Given the description of an element on the screen output the (x, y) to click on. 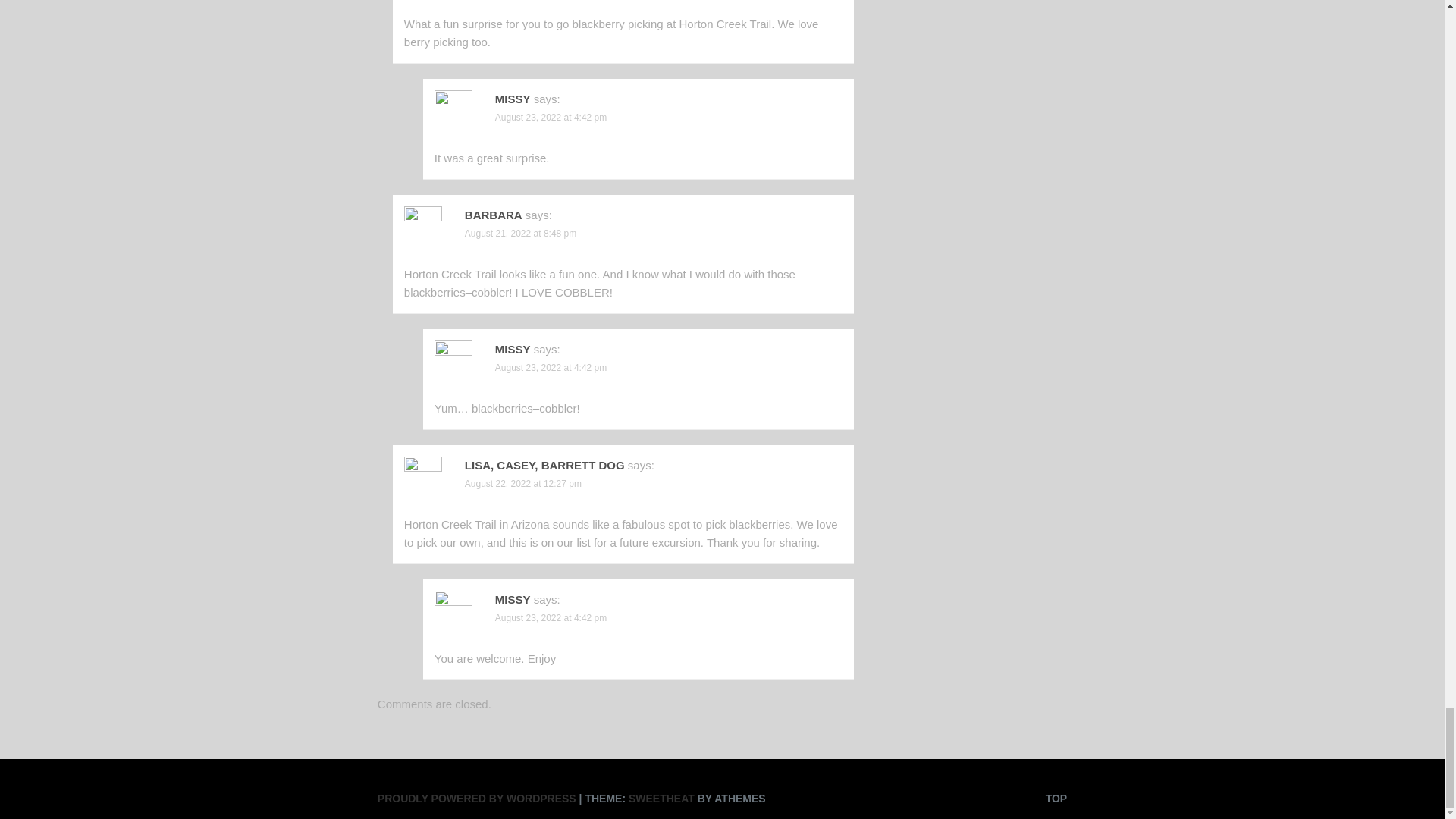
August 23, 2022 at 4:42 pm (551, 117)
August 23, 2022 at 4:42 pm (551, 617)
August 21, 2022 at 8:48 pm (520, 233)
August 23, 2022 at 4:42 pm (551, 367)
August 22, 2022 at 12:27 pm (522, 483)
